Given the description of an element on the screen output the (x, y) to click on. 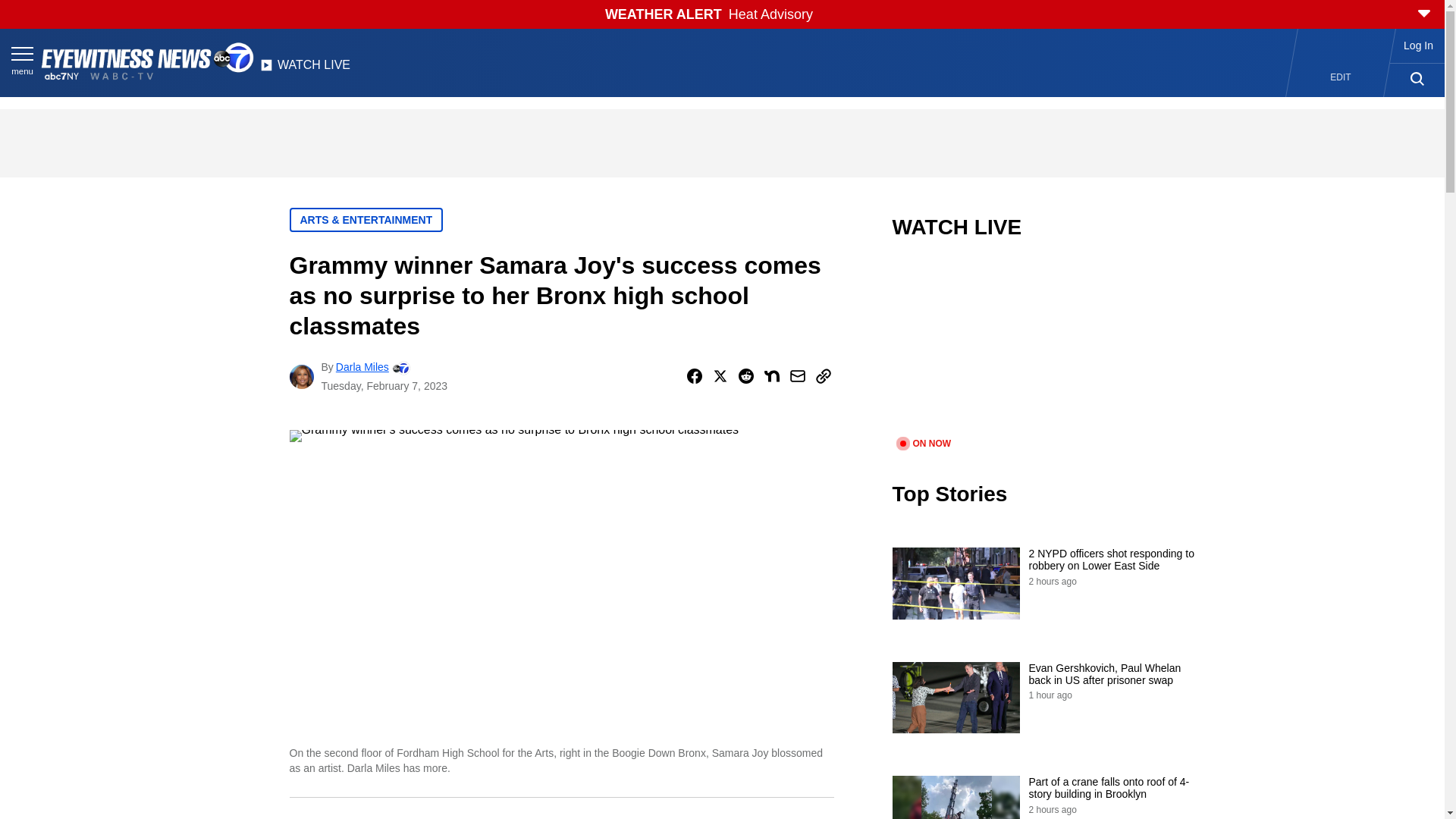
WATCH LIVE (305, 69)
EDIT (1340, 77)
video.title (1043, 347)
